Given the description of an element on the screen output the (x, y) to click on. 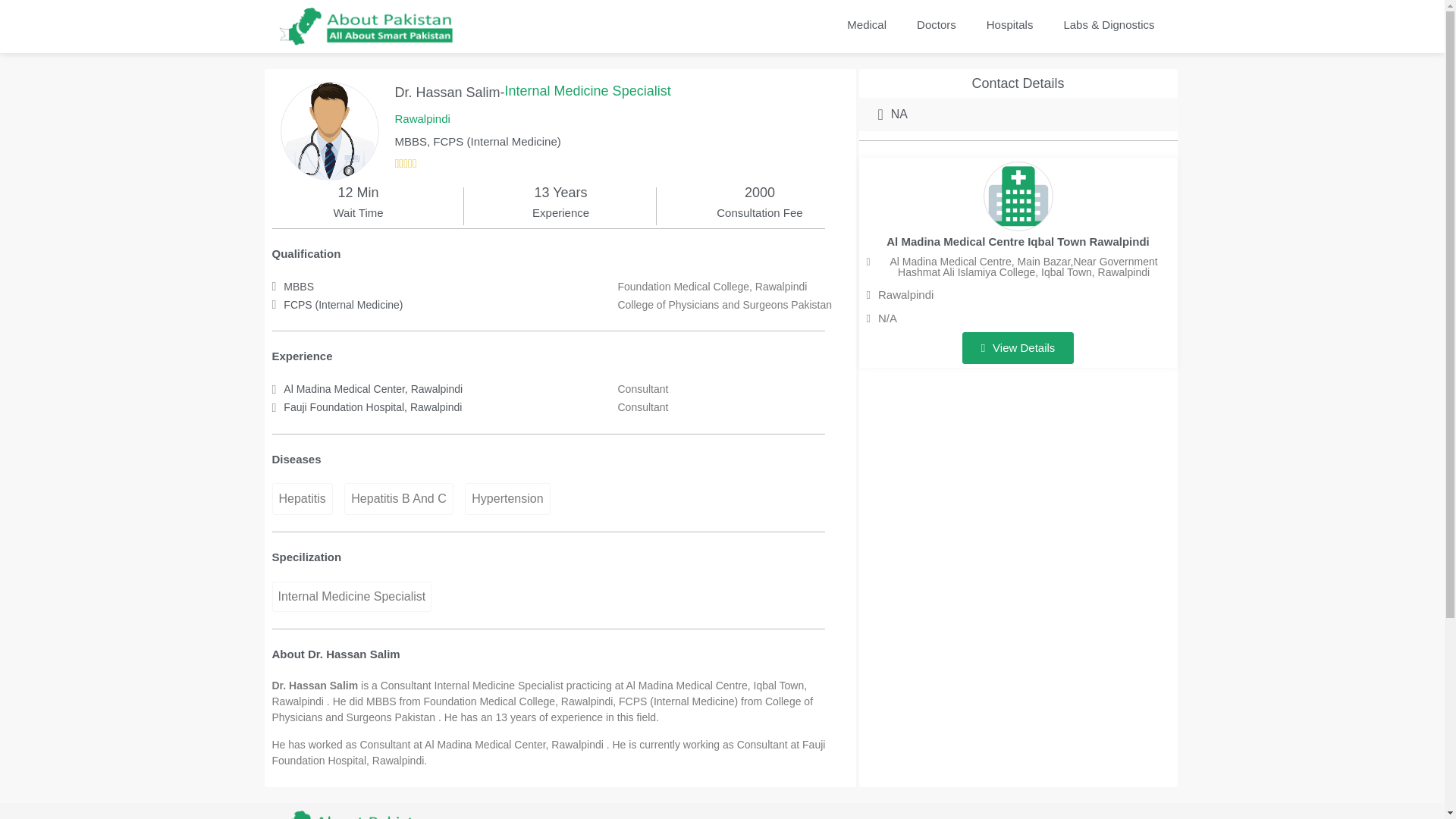
Hepatitis (300, 499)
Al Madina Medical Centre Iqbal Town Rawalpindi (1017, 241)
hospital (1017, 195)
Hospitals (1009, 24)
Internal Medicine Specialist (350, 596)
Medical (866, 24)
Hypertension (507, 499)
NA (892, 114)
Internal Medicine Specialist (588, 90)
View Details (1018, 347)
